Given the description of an element on the screen output the (x, y) to click on. 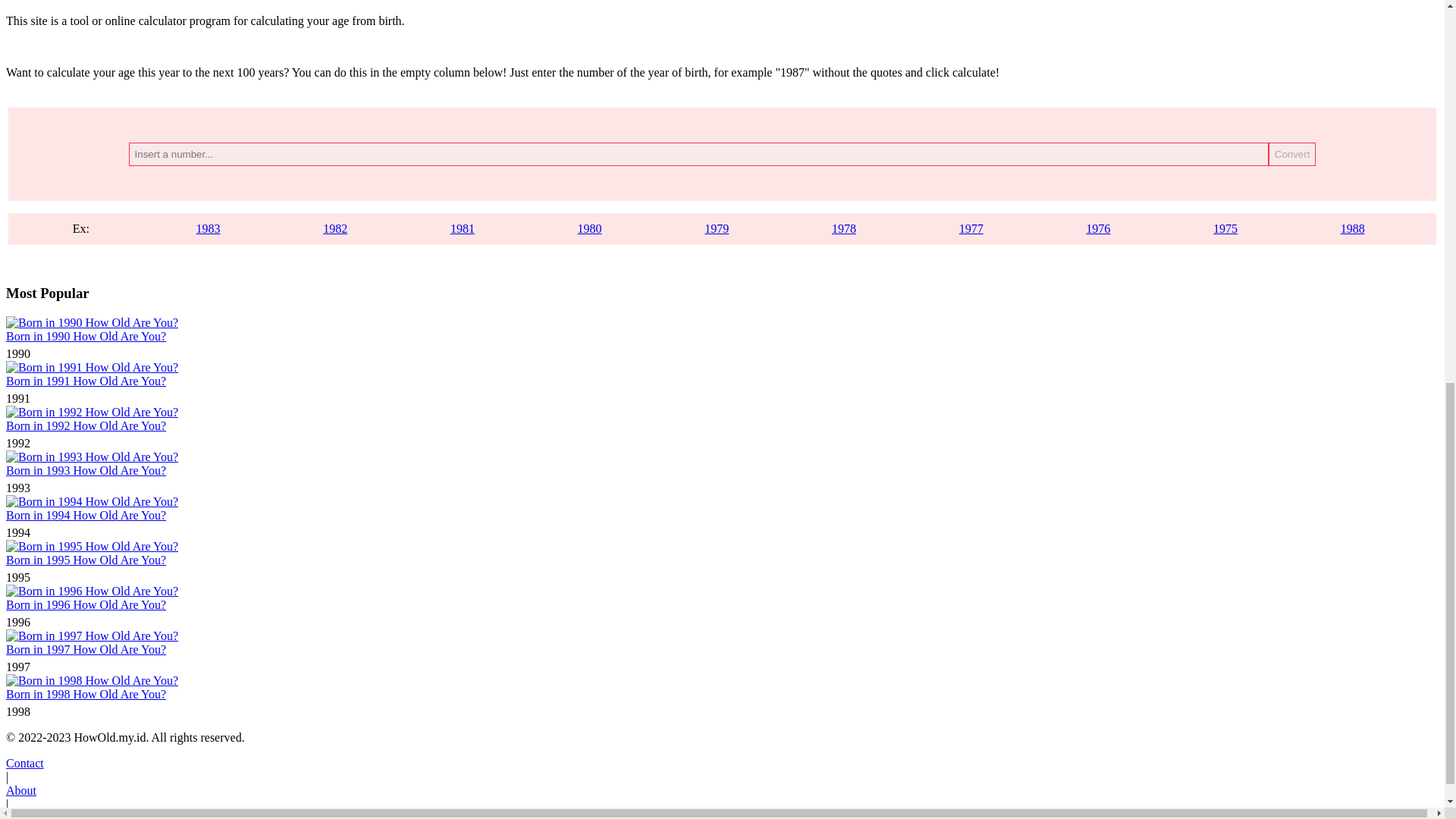
Born in 1994 How Old Are You? (85, 514)
1979 (716, 228)
Born in 1992 How Old Are You? (91, 411)
Born in 1992 How Old Are You? (85, 425)
1975 (1224, 228)
Born in 1990 How Old Are You? (85, 336)
Born in 1990 How Old Are You? (91, 322)
Born in 1991 How Old Are You? (91, 367)
1980 (590, 228)
Born in 1992 How Old Are You? (85, 425)
Born in 1994 How Old Are You? (91, 501)
1983 (208, 228)
1976 (1097, 228)
1988 (1352, 228)
Born in 1995 How Old Are You? (85, 559)
